Given the description of an element on the screen output the (x, y) to click on. 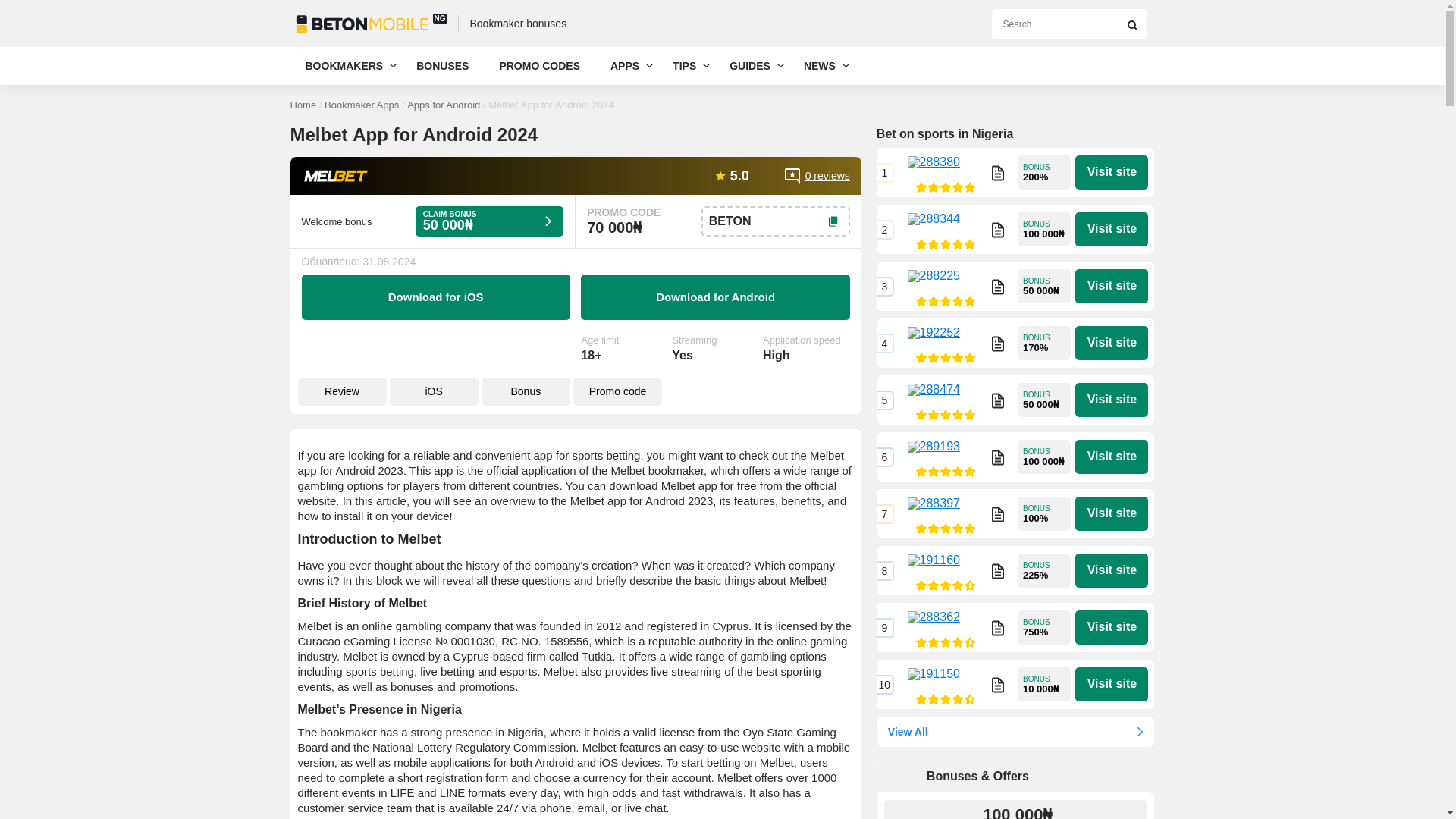
Bookmaker Apps (361, 105)
Review iOS Bonus Promo code (574, 393)
BONUSES (442, 65)
PROMO CODES (539, 65)
Apps for Android (443, 105)
Home (302, 105)
Review iOS Bonus Promo code (575, 392)
